Given the description of an element on the screen output the (x, y) to click on. 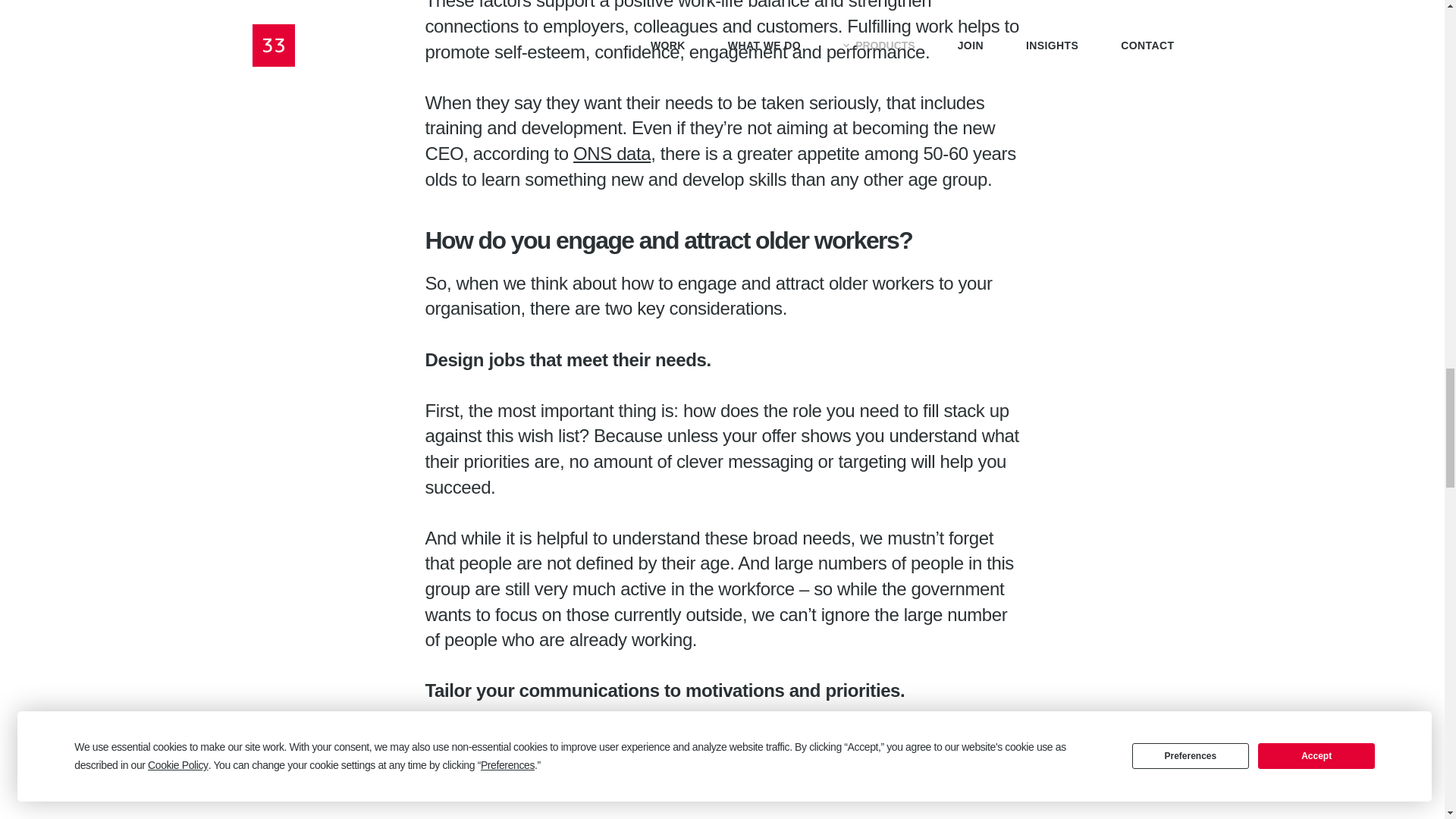
ONS data (611, 153)
